Given the description of an element on the screen output the (x, y) to click on. 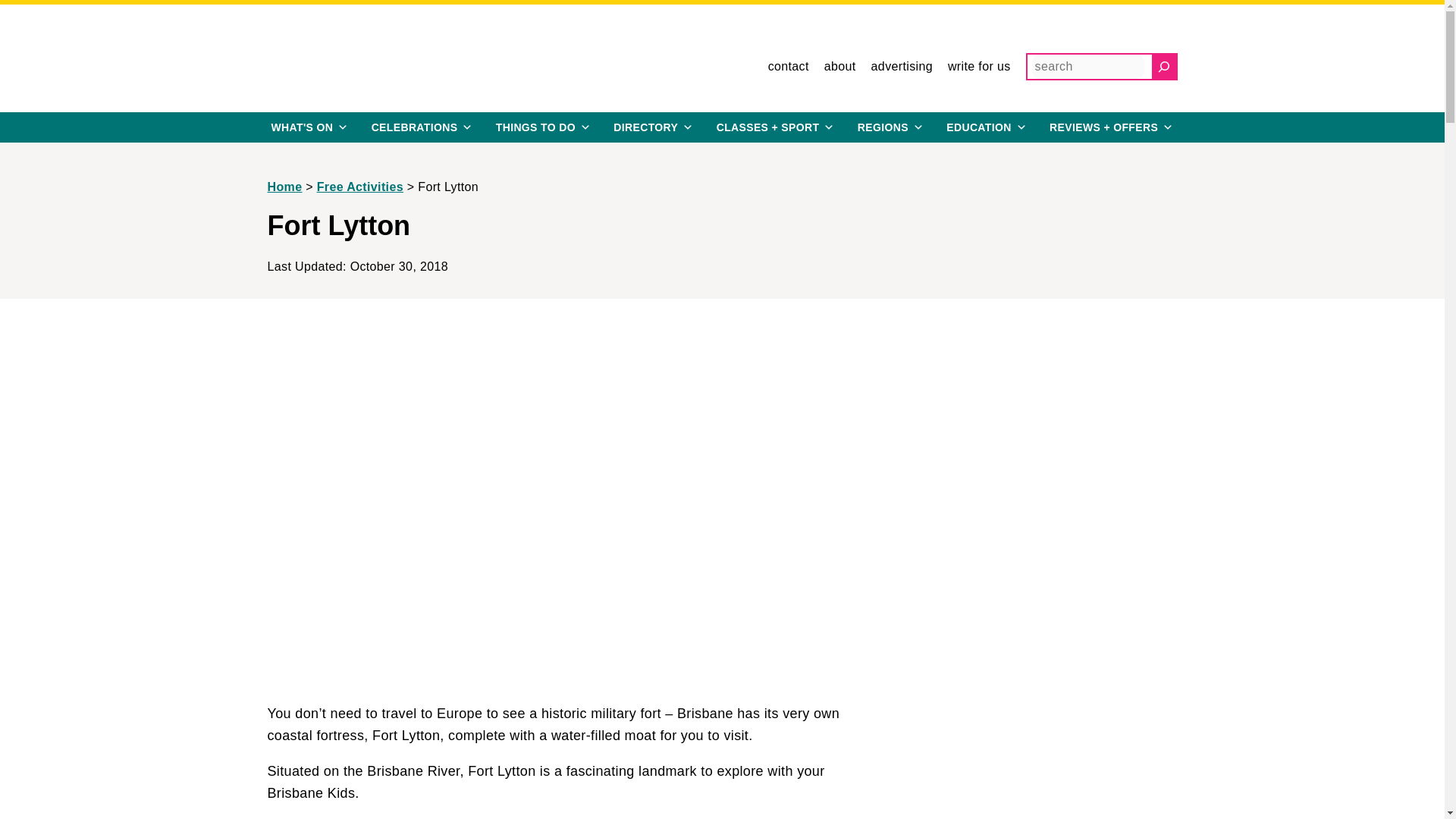
WHAT'S ON (309, 127)
write for us (978, 66)
CELEBRATIONS (422, 127)
THINGS TO DO (542, 127)
contact (788, 66)
kids activities brisbane (776, 127)
advertising (901, 66)
about (840, 66)
